Given the description of an element on the screen output the (x, y) to click on. 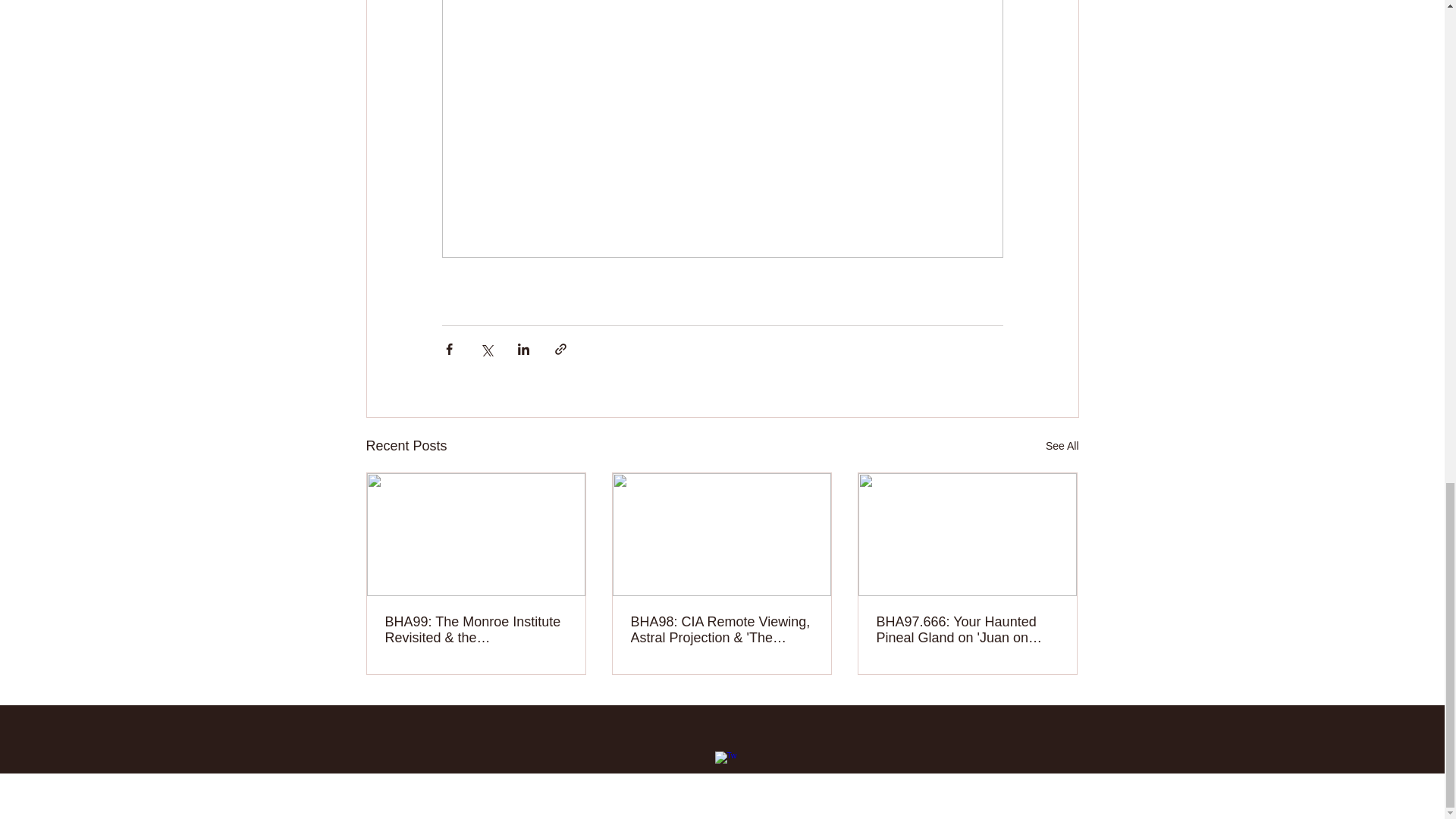
BHA97.666: Your Haunted Pineal Gland on 'Juan on Juan' (967, 630)
See All (1061, 445)
